Given the description of an element on the screen output the (x, y) to click on. 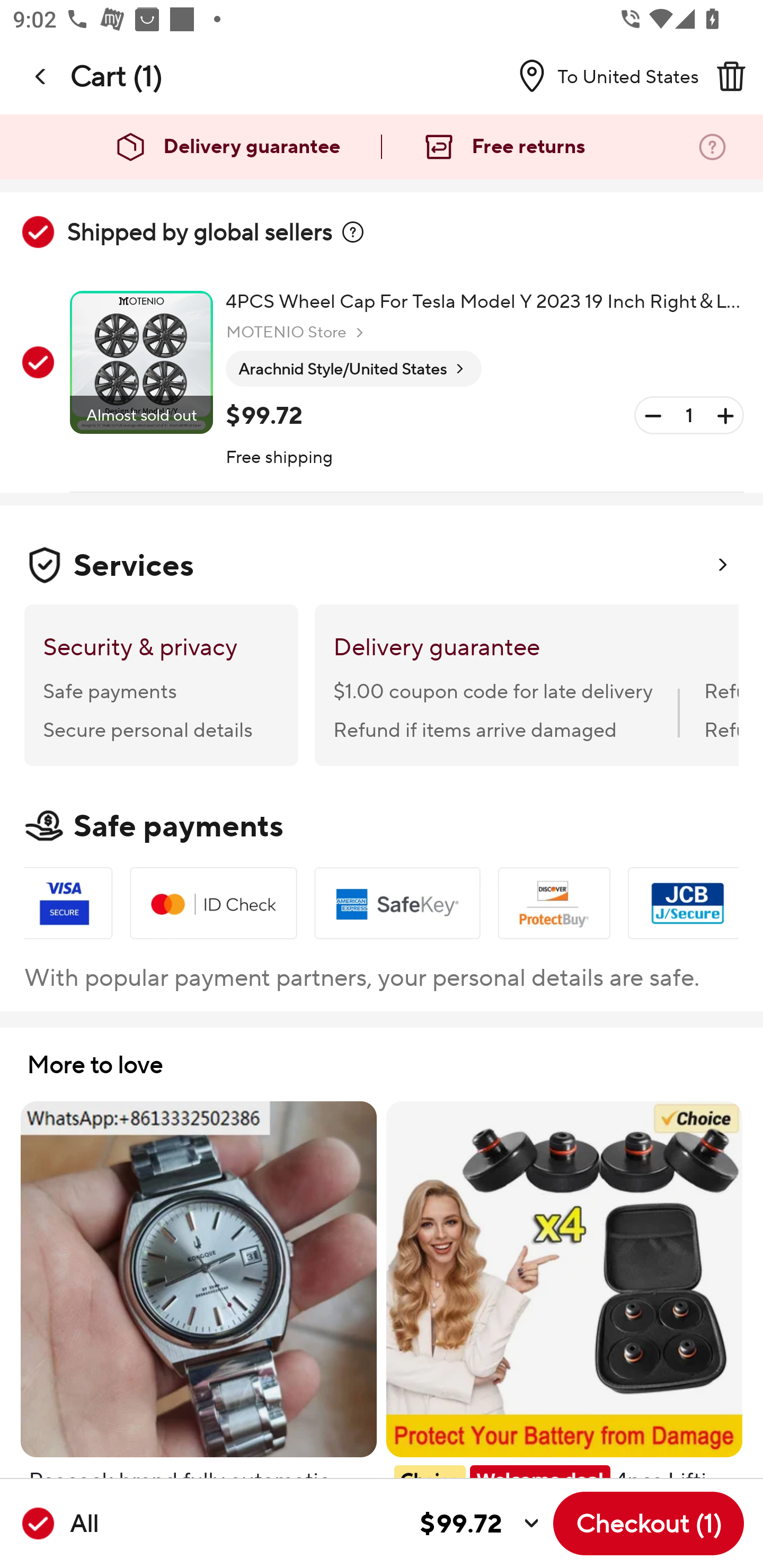
 (41, 76)
 To United States (601, 75)
 (730, 75)
 (352, 231)
MOTENIO Store (296, 333)
Arachnid Style/United States (353, 369)
1 (688, 415)
$_99.72  (324, 1523)
Checkout (1) (648, 1523)
